Given the description of an element on the screen output the (x, y) to click on. 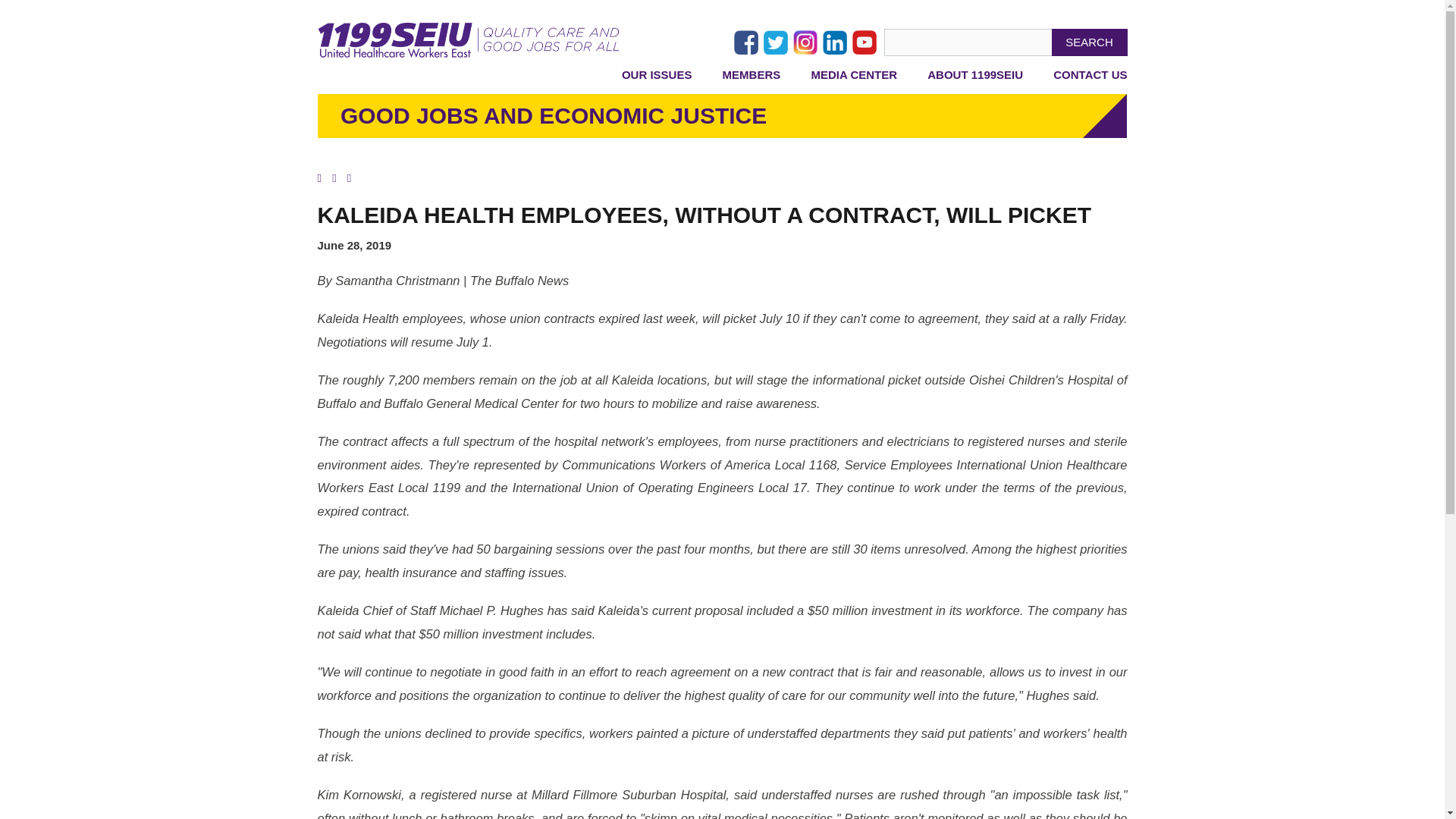
MEMBERS (751, 80)
MEDIA CENTER (853, 80)
OUR ISSUES (657, 80)
SEARCH (1088, 42)
ABOUT 1199SEIU (975, 80)
CONTACT US (1089, 80)
